Given the description of an element on the screen output the (x, y) to click on. 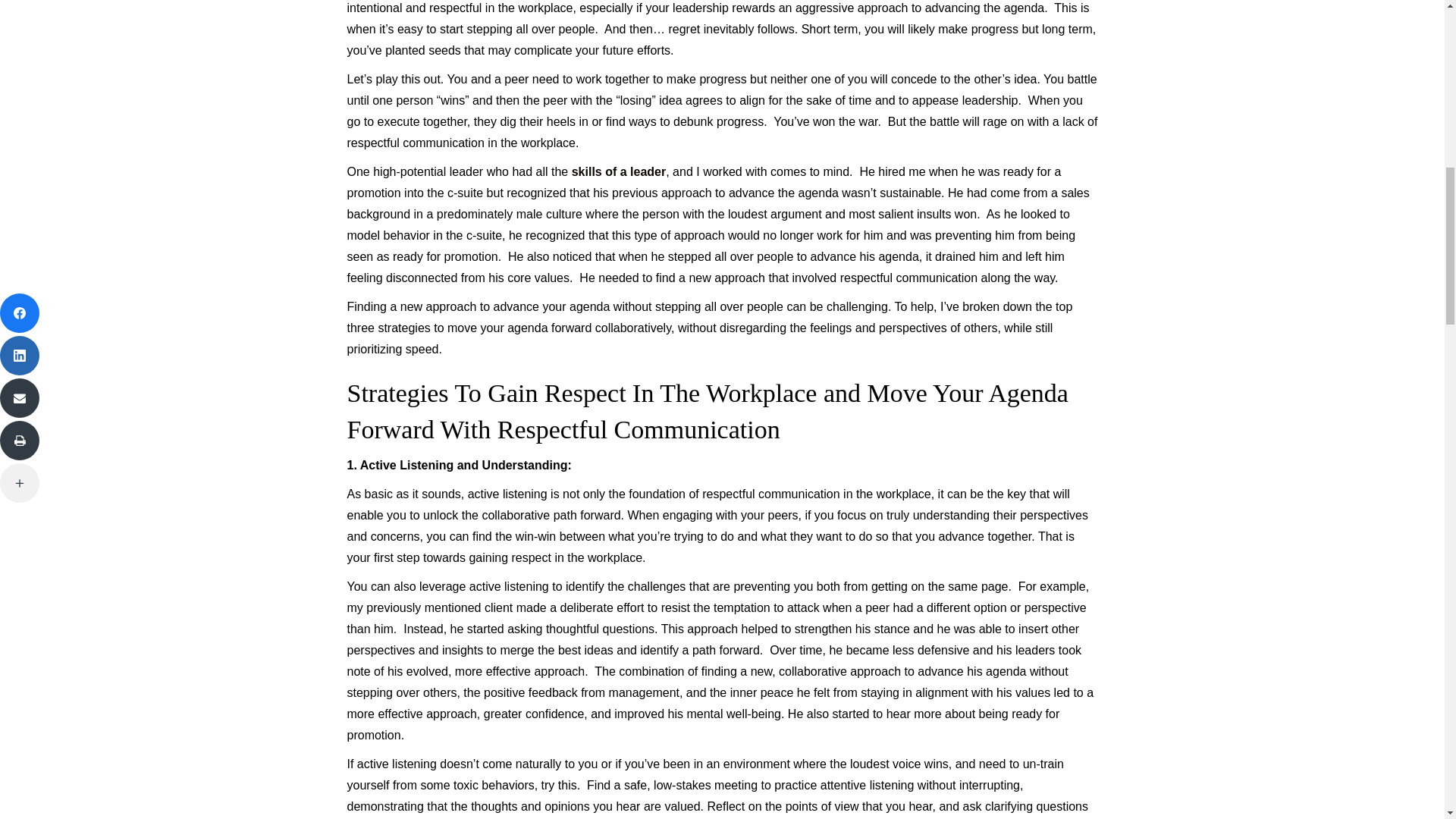
skills of a leader (619, 171)
